Given the description of an element on the screen output the (x, y) to click on. 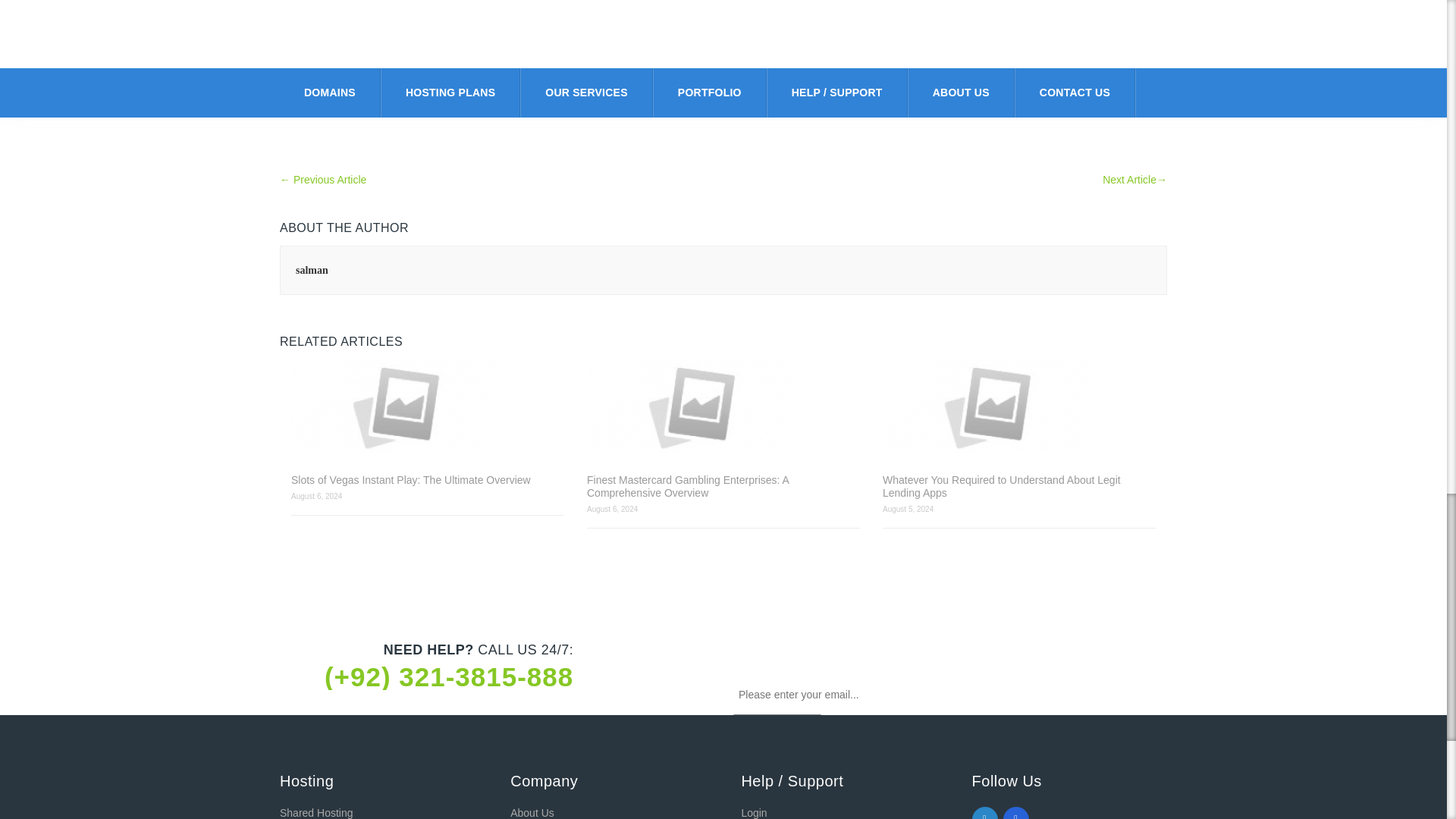
Sign Up (777, 733)
